Given the description of an element on the screen output the (x, y) to click on. 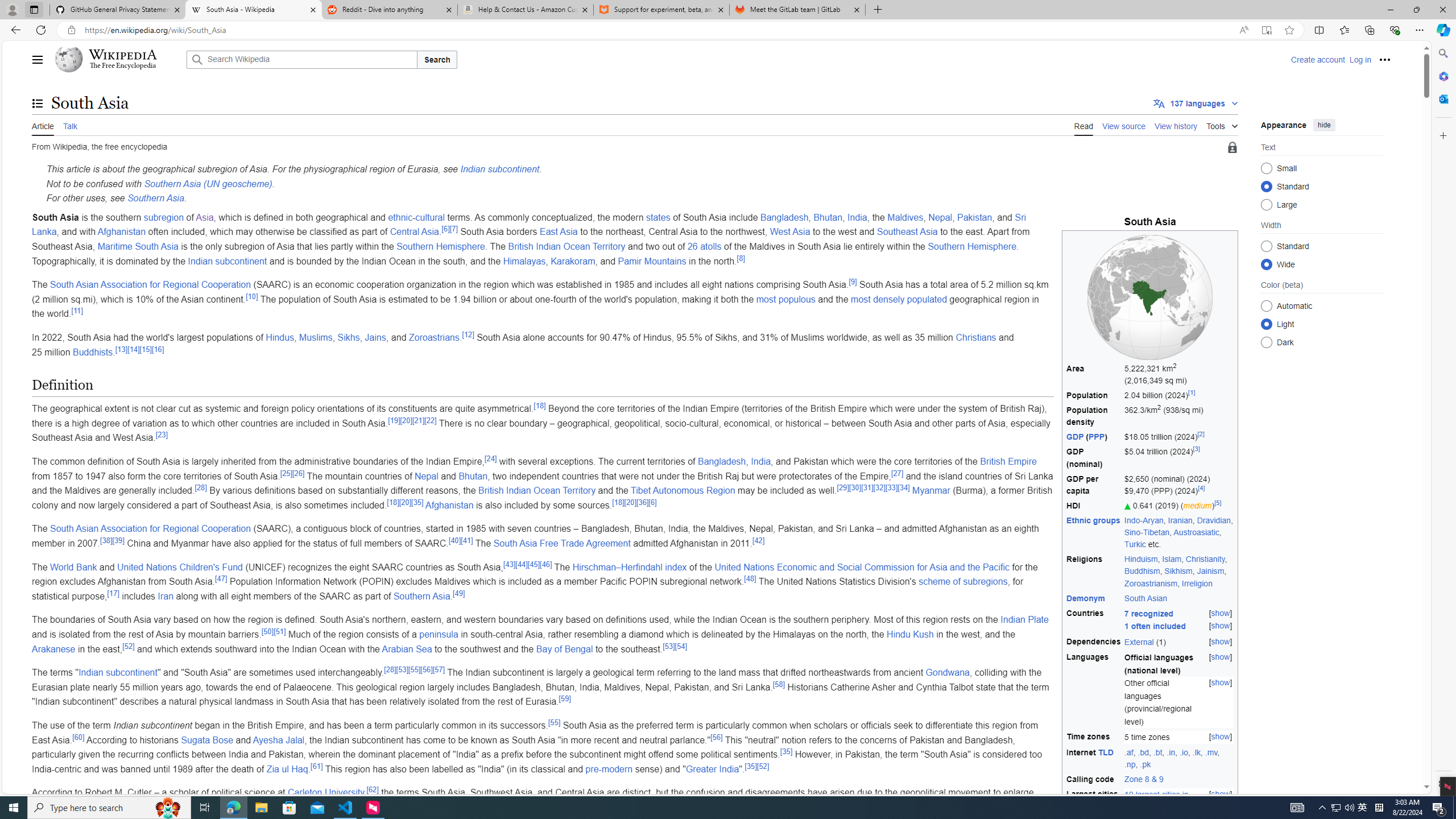
Sikhism (1178, 570)
Tibet Autonomous Region (682, 490)
TLD (1105, 751)
2.04 billion (2024)[1] (1179, 395)
Largest cities (1093, 800)
Islam (1171, 559)
Population density (1093, 416)
Bay of Bengal (563, 648)
Increase (1127, 505)
British Empire (1007, 461)
Search Wikipedia (301, 59)
Zoroastrians (434, 337)
Standard (1266, 245)
[47] (220, 578)
Buddhism (1142, 570)
